Given the description of an element on the screen output the (x, y) to click on. 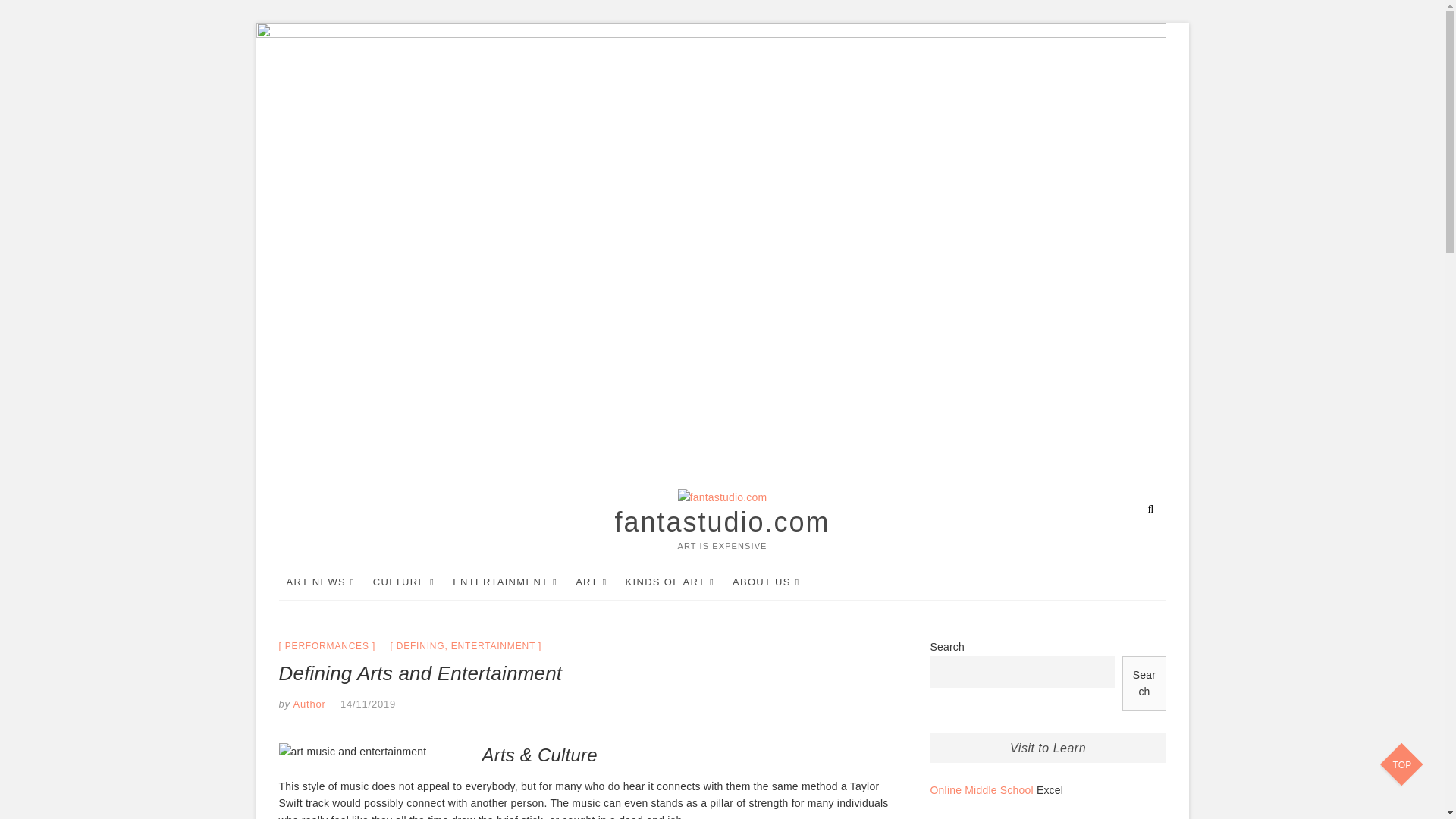
CULTURE (403, 582)
KINDS OF ART (669, 582)
ENTERTAINMENT (493, 645)
DEFINING (420, 645)
PERFORMANCES (327, 645)
ART (590, 582)
ABOUT US (765, 582)
fantastudio.com (721, 522)
fantastudio.com (721, 522)
ENTERTAINMENT (504, 582)
23:03 (368, 704)
ART NEWS (320, 582)
Author (307, 704)
